Given the description of an element on the screen output the (x, y) to click on. 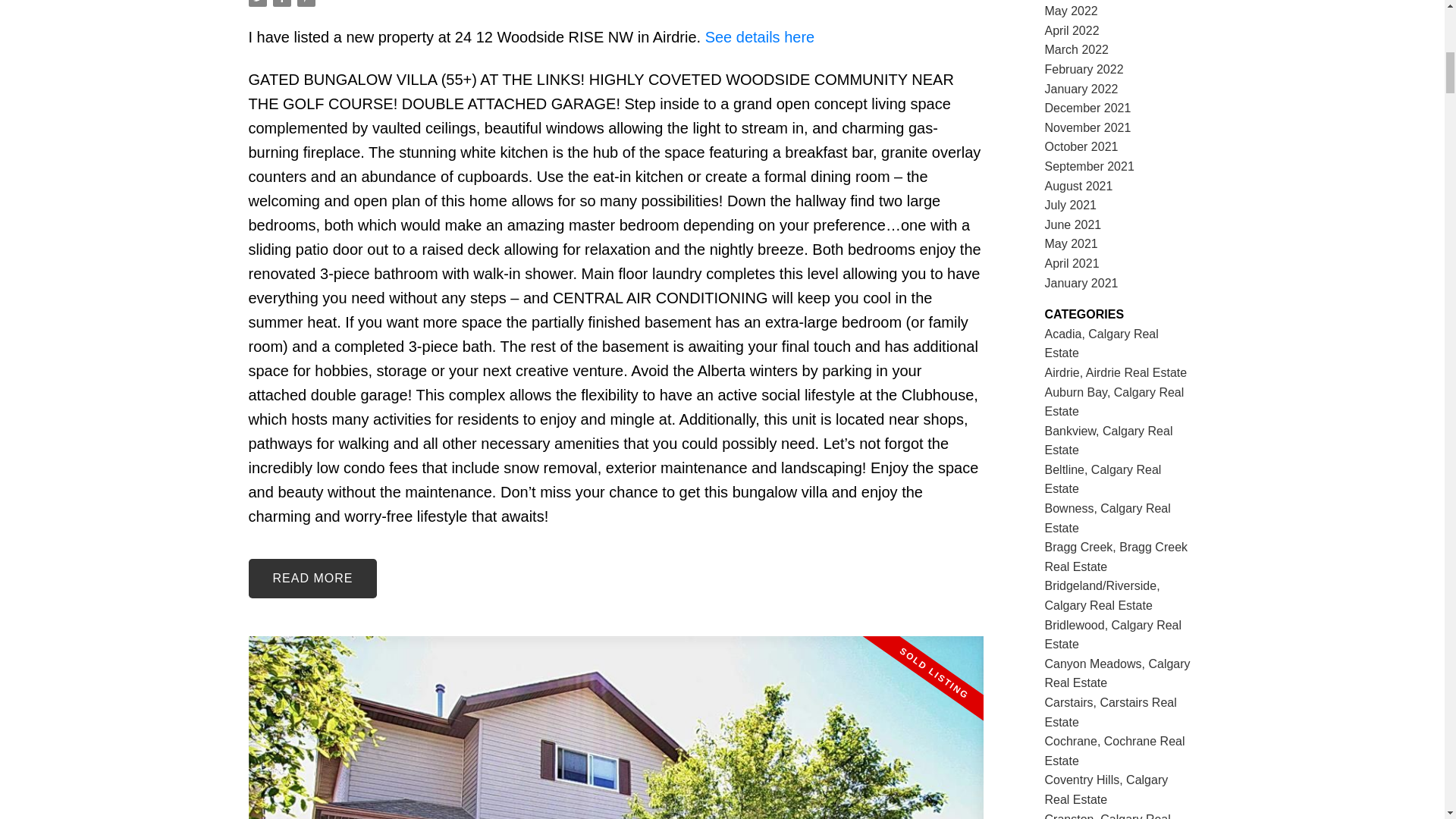
READ (312, 578)
See details here (759, 36)
